Given the description of an element on the screen output the (x, y) to click on. 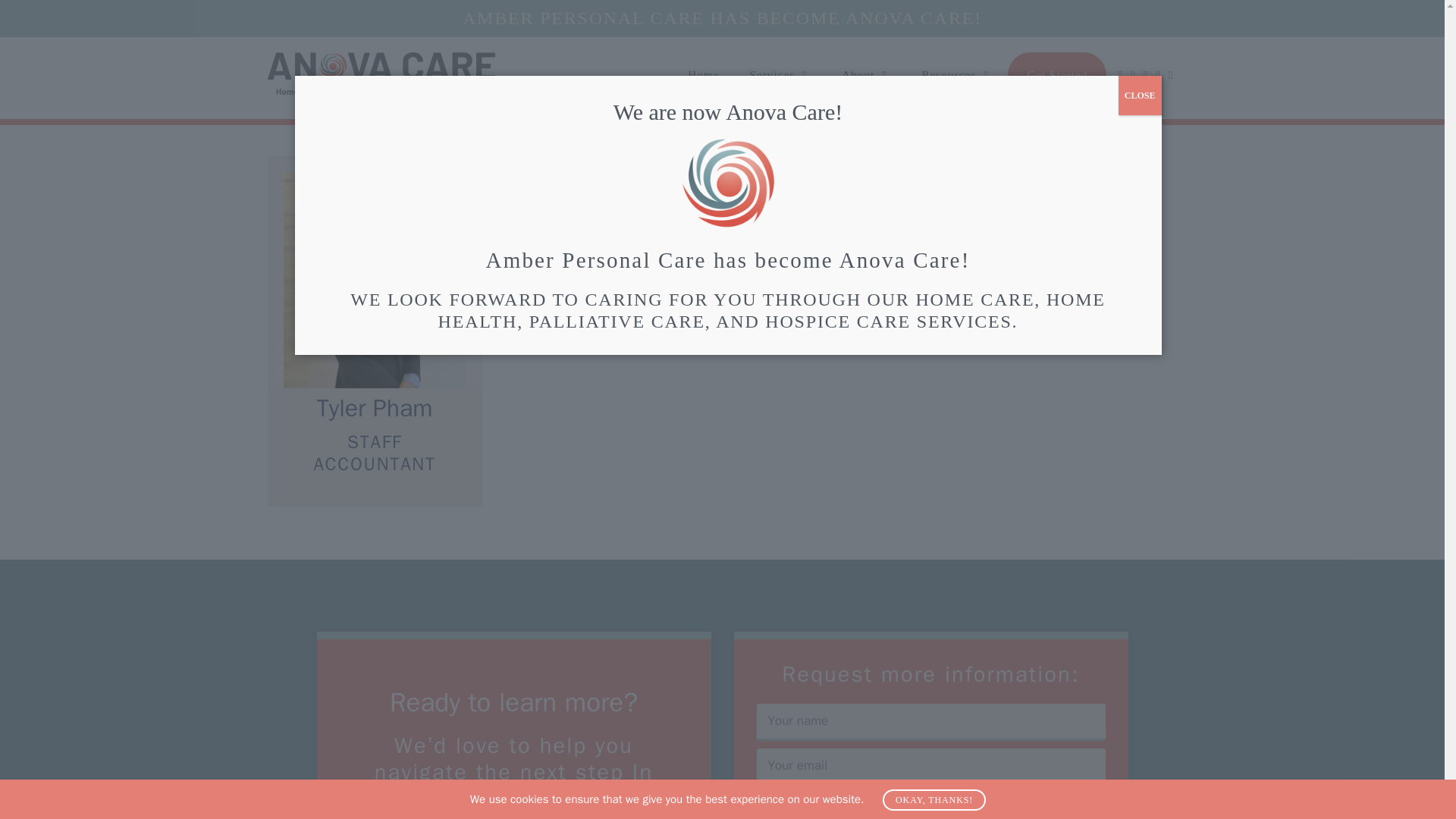
Services (780, 74)
Home (702, 74)
Get Started (1056, 74)
Resources (956, 74)
About (866, 74)
